Given the description of an element on the screen output the (x, y) to click on. 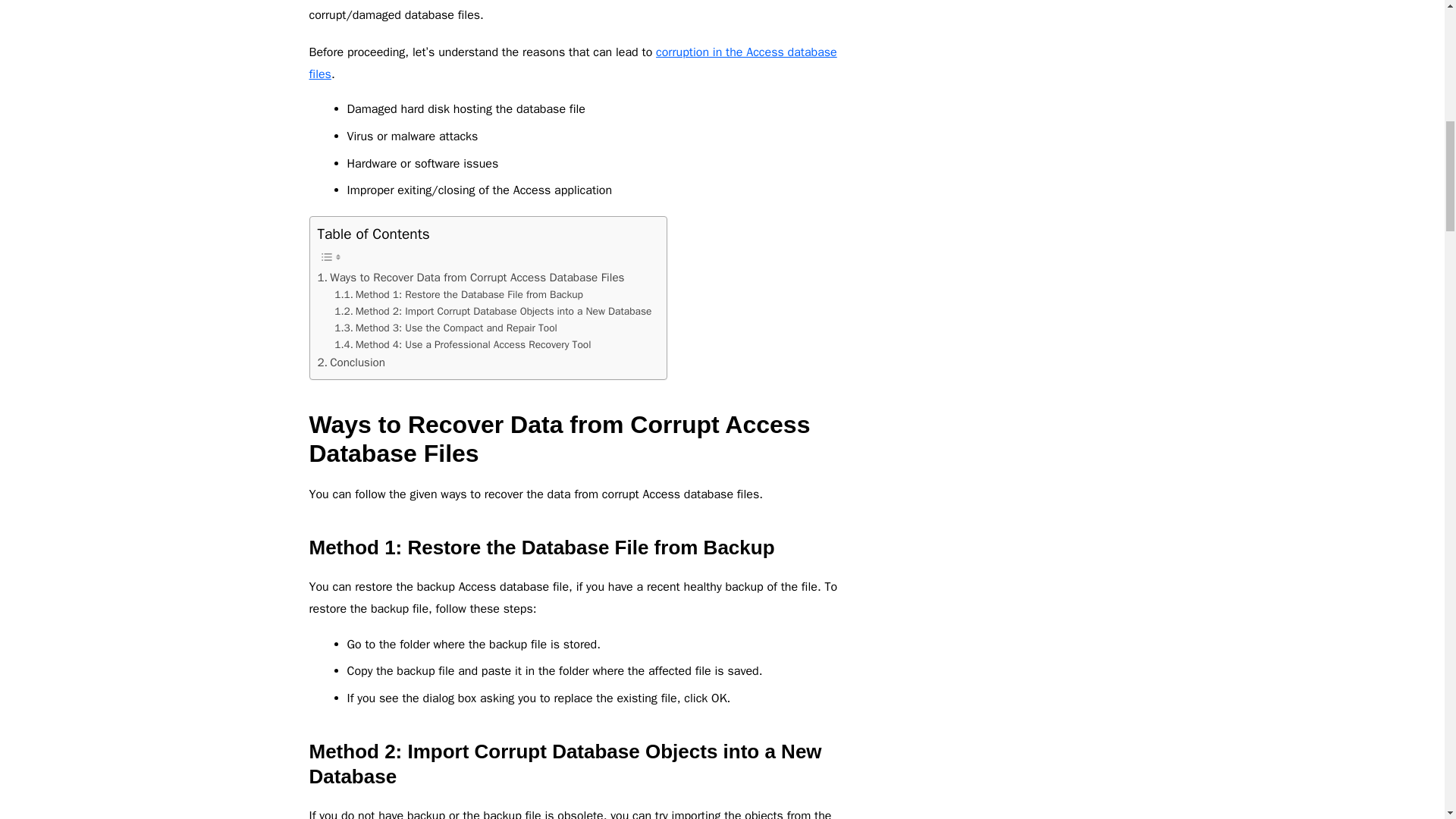
Ways to Recover Data from Corrupt Access Database Files (470, 277)
Conclusion (350, 361)
Method 1: Restore the Database File from Backup (458, 294)
Method 1: Restore the Database File from Backup (458, 294)
Method 3: Use the Compact and Repair Tool (445, 328)
corruption in the Access database files (572, 63)
Method 4: Use a Professional Access Recovery Tool (462, 344)
Conclusion (350, 361)
